Given the description of an element on the screen output the (x, y) to click on. 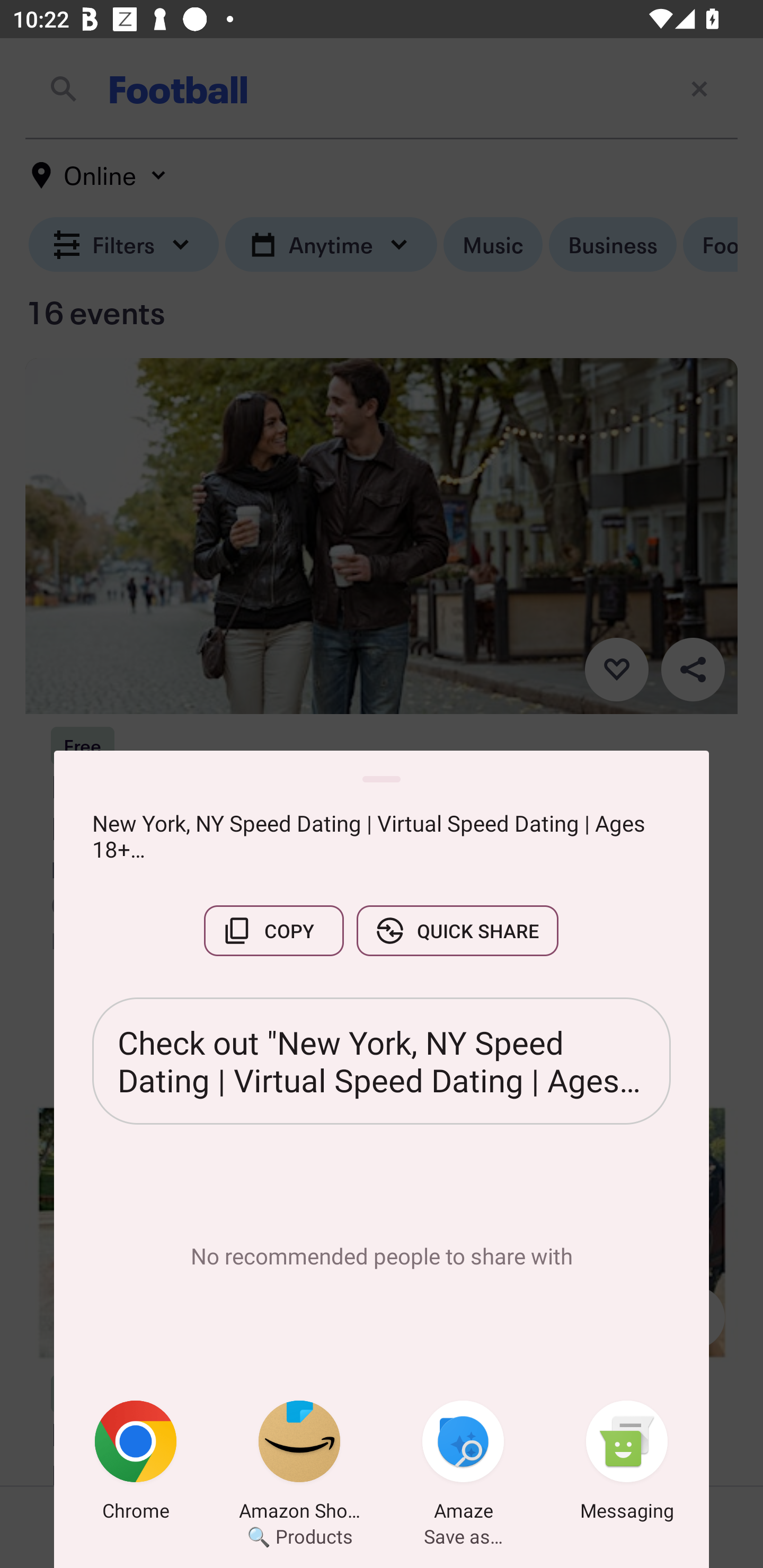
COPY (273, 930)
QUICK SHARE (457, 930)
Chrome (135, 1463)
Amazon Shopping 🔍 Products (299, 1463)
Amaze Save as… (463, 1463)
Messaging (626, 1463)
